Given the description of an element on the screen output the (x, y) to click on. 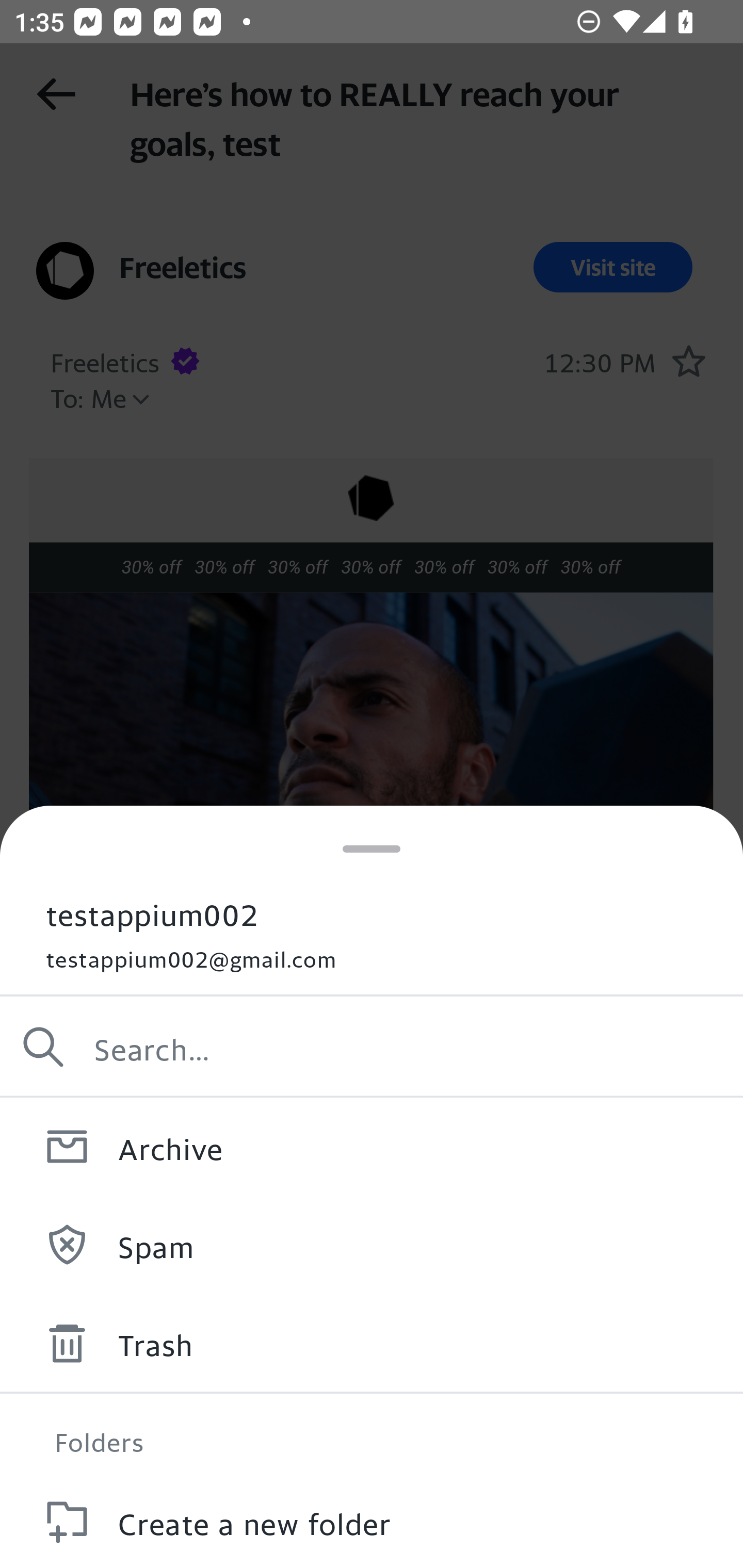
Search… (371, 1047)
Archive (371, 1145)
Spam (371, 1243)
Trash (371, 1342)
Create a new folder (371, 1520)
